Given the description of an element on the screen output the (x, y) to click on. 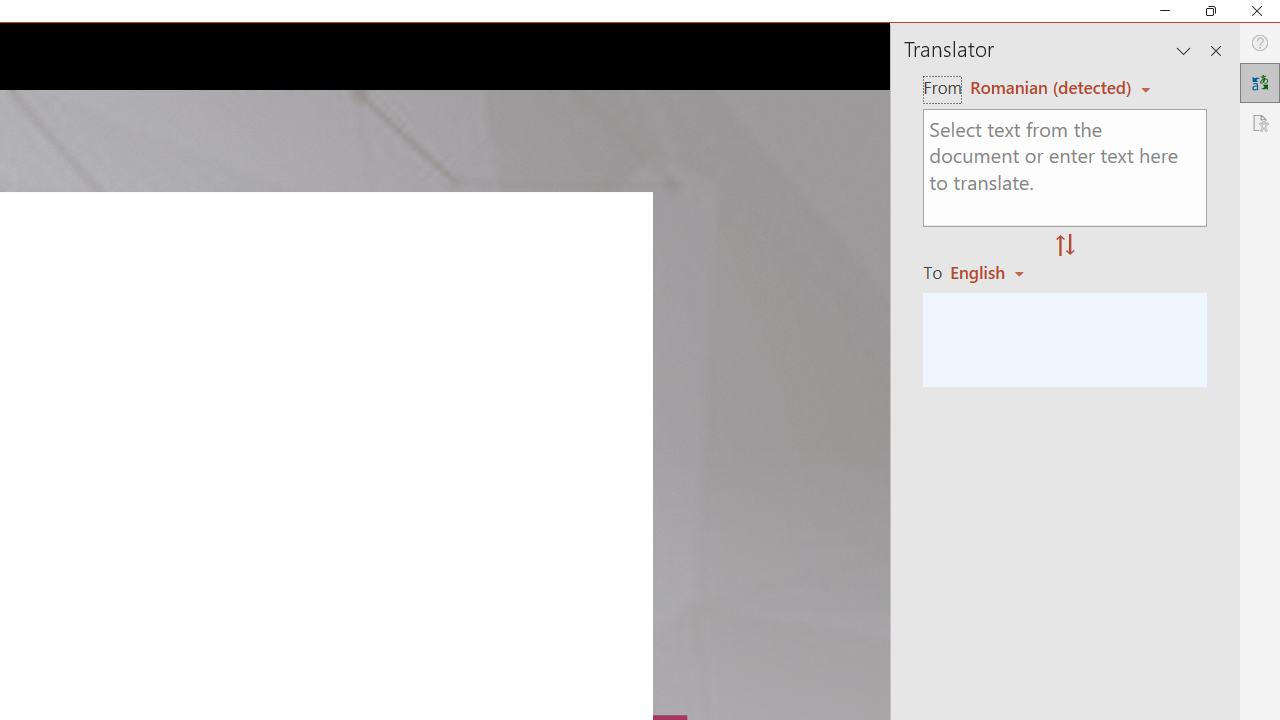
Romanian (994, 272)
Swap "from" and "to" languages. (1065, 245)
Czech (detected) (1047, 87)
